Given the description of an element on the screen output the (x, y) to click on. 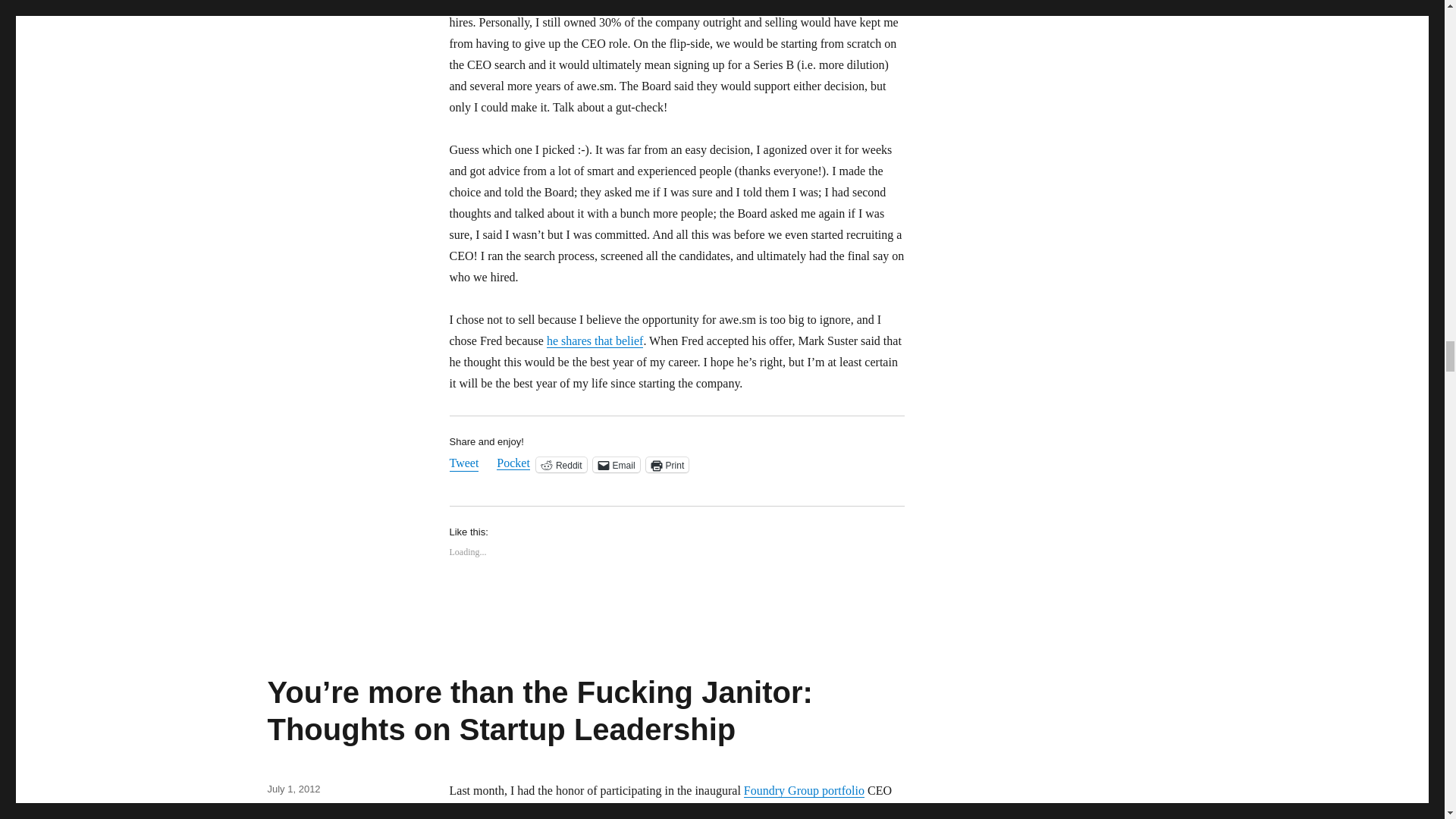
Click to email a link to a friend (616, 464)
Click to print (667, 464)
Click to share on Reddit (560, 464)
